Given the description of an element on the screen output the (x, y) to click on. 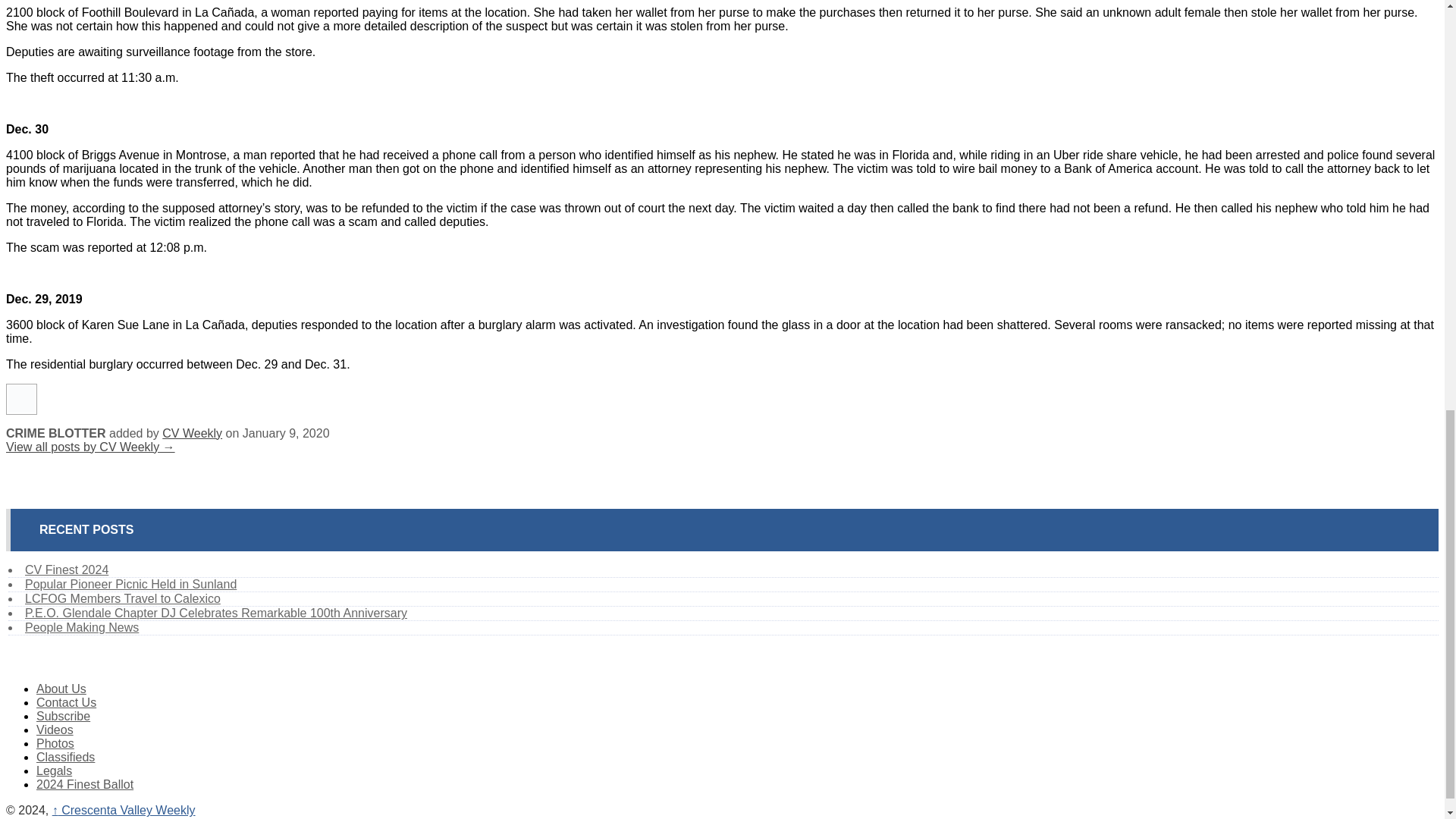
Crescenta Valley Weekly (123, 809)
